Given the description of an element on the screen output the (x, y) to click on. 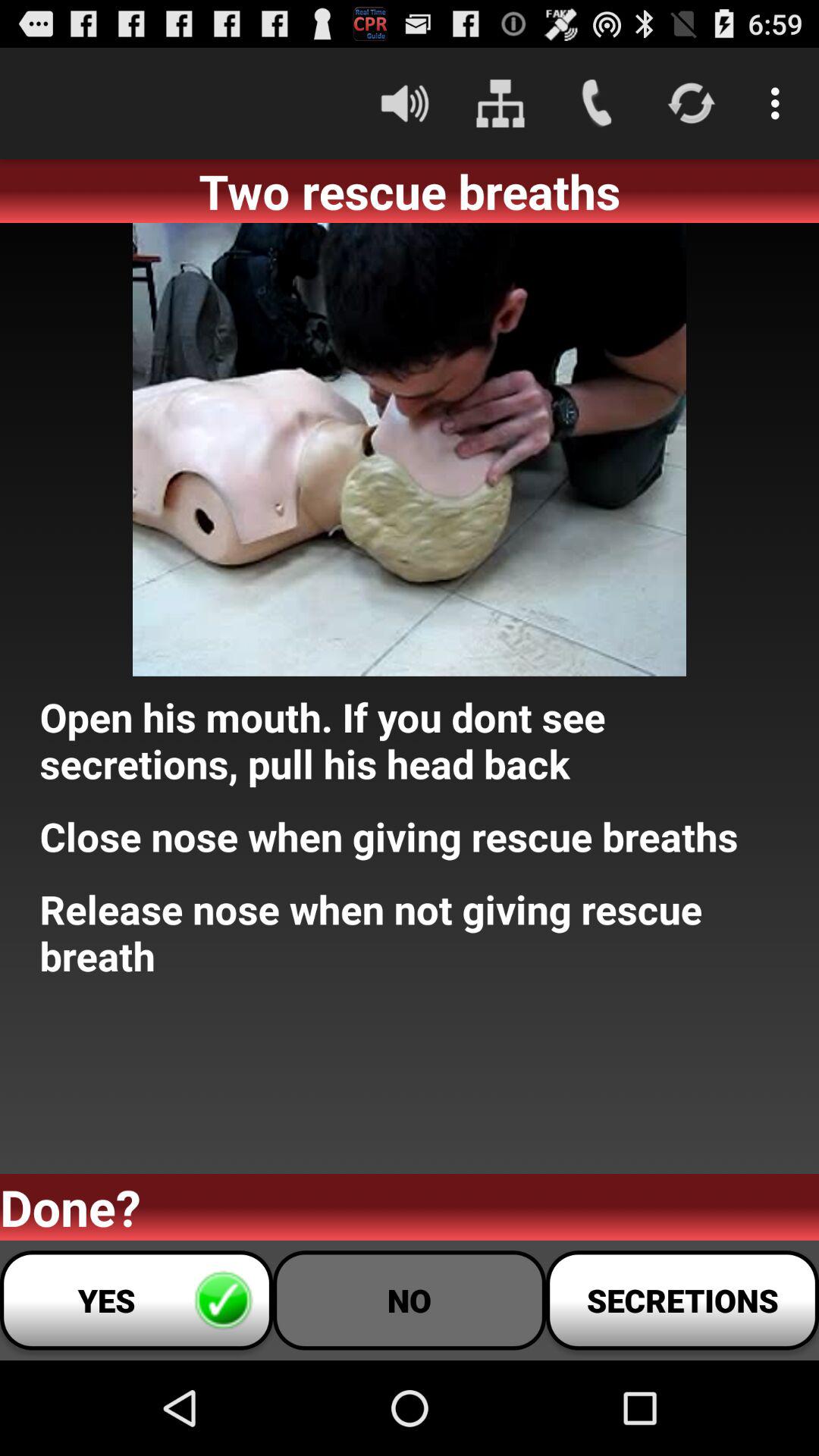
choose icon above two rescue breaths item (500, 103)
